Given the description of an element on the screen output the (x, y) to click on. 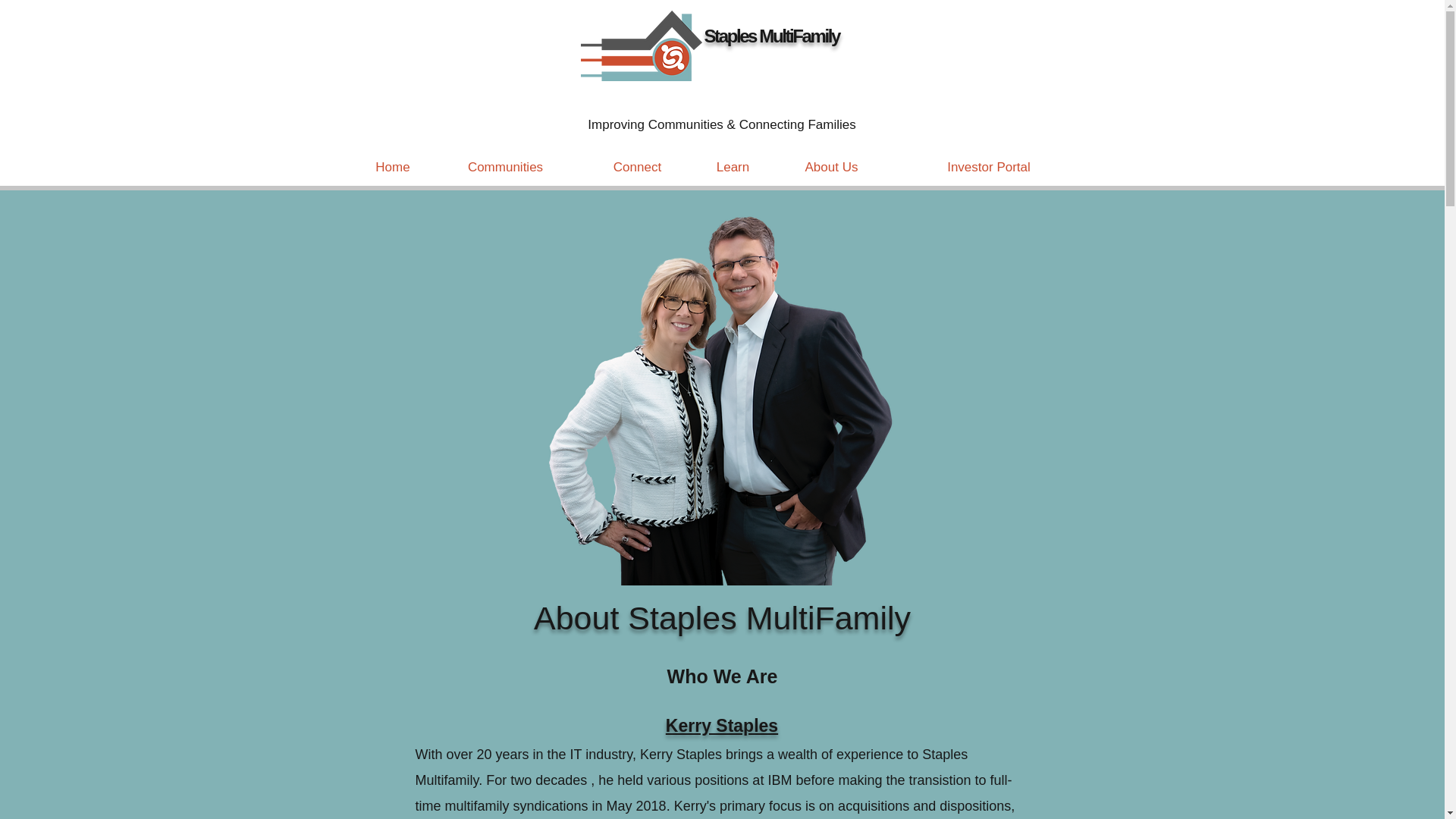
Communities (505, 166)
Connect (637, 166)
About Us (831, 166)
Investor Portal (988, 166)
Home (392, 166)
Learn (733, 166)
